Given the description of an element on the screen output the (x, y) to click on. 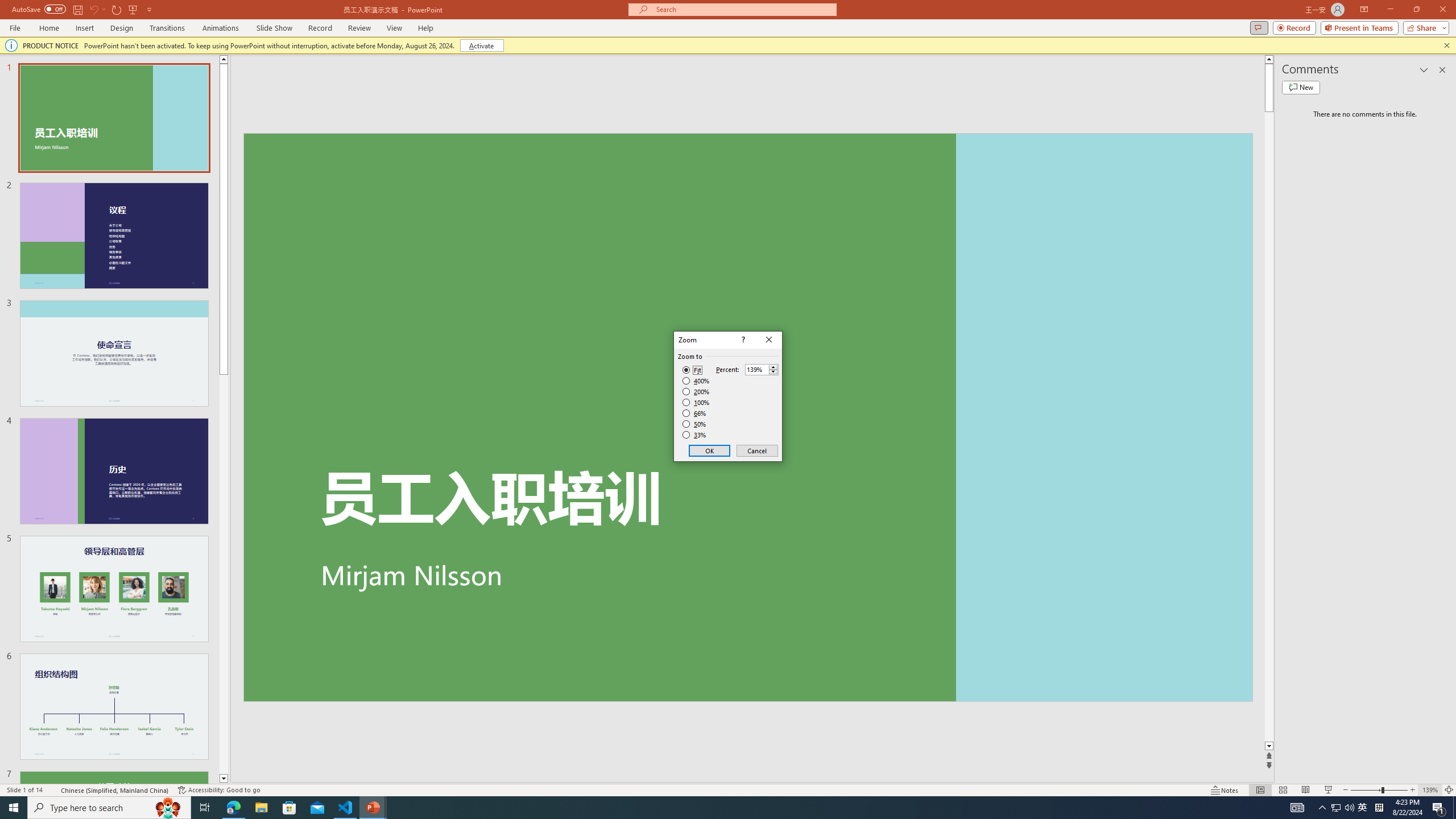
Restore Down (1416, 9)
Animations (220, 28)
Zoom In (1412, 790)
Share (1423, 27)
Context help (742, 339)
Spell Check  (52, 790)
Save (77, 9)
Zoom 139% (1430, 790)
New comment (1300, 87)
System (6, 6)
Minimize (1390, 9)
Undo (92, 9)
